Given the description of an element on the screen output the (x, y) to click on. 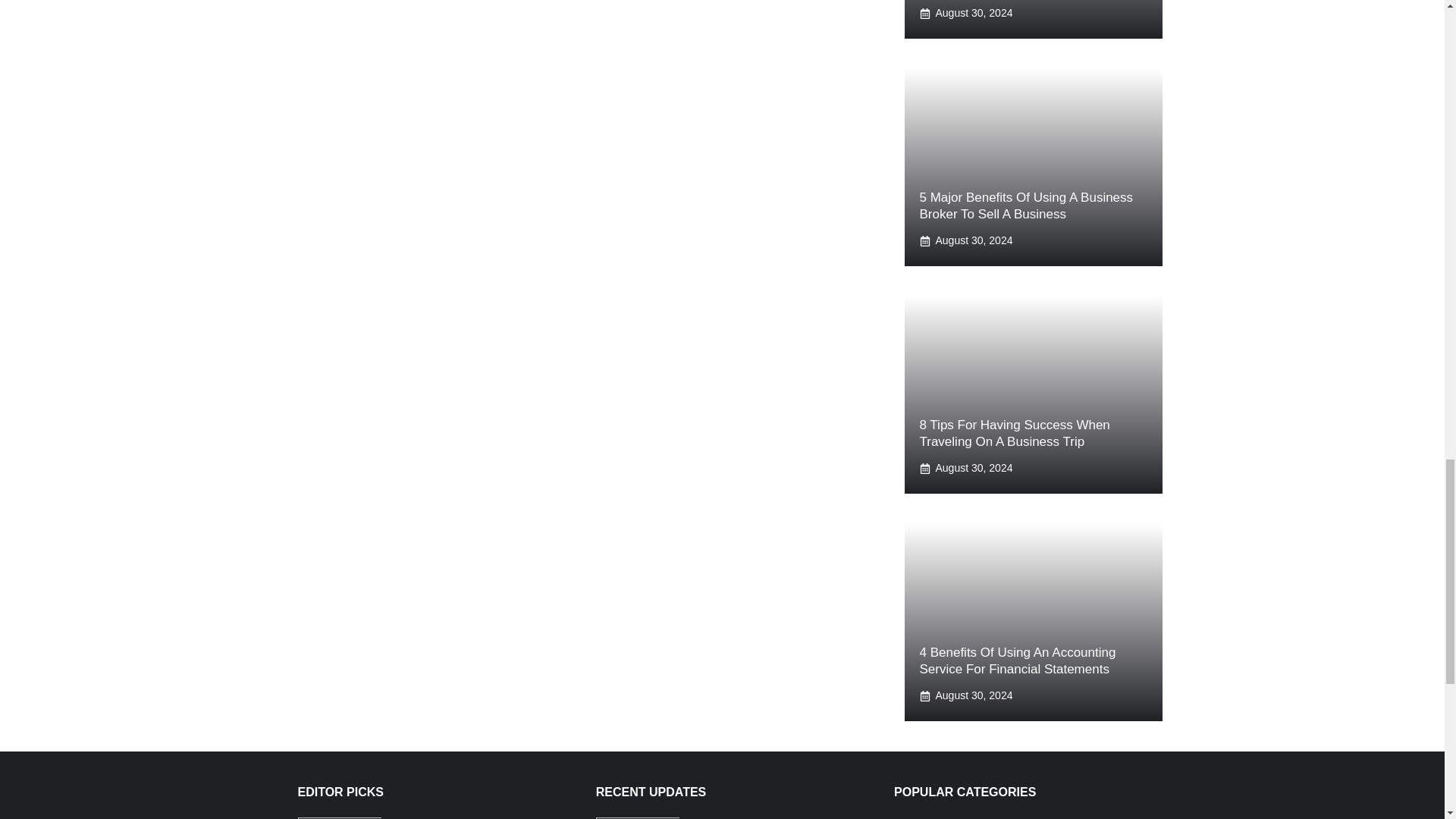
8 Tips For Having Success When Traveling On A Business Trip (1013, 432)
